Given the description of an element on the screen output the (x, y) to click on. 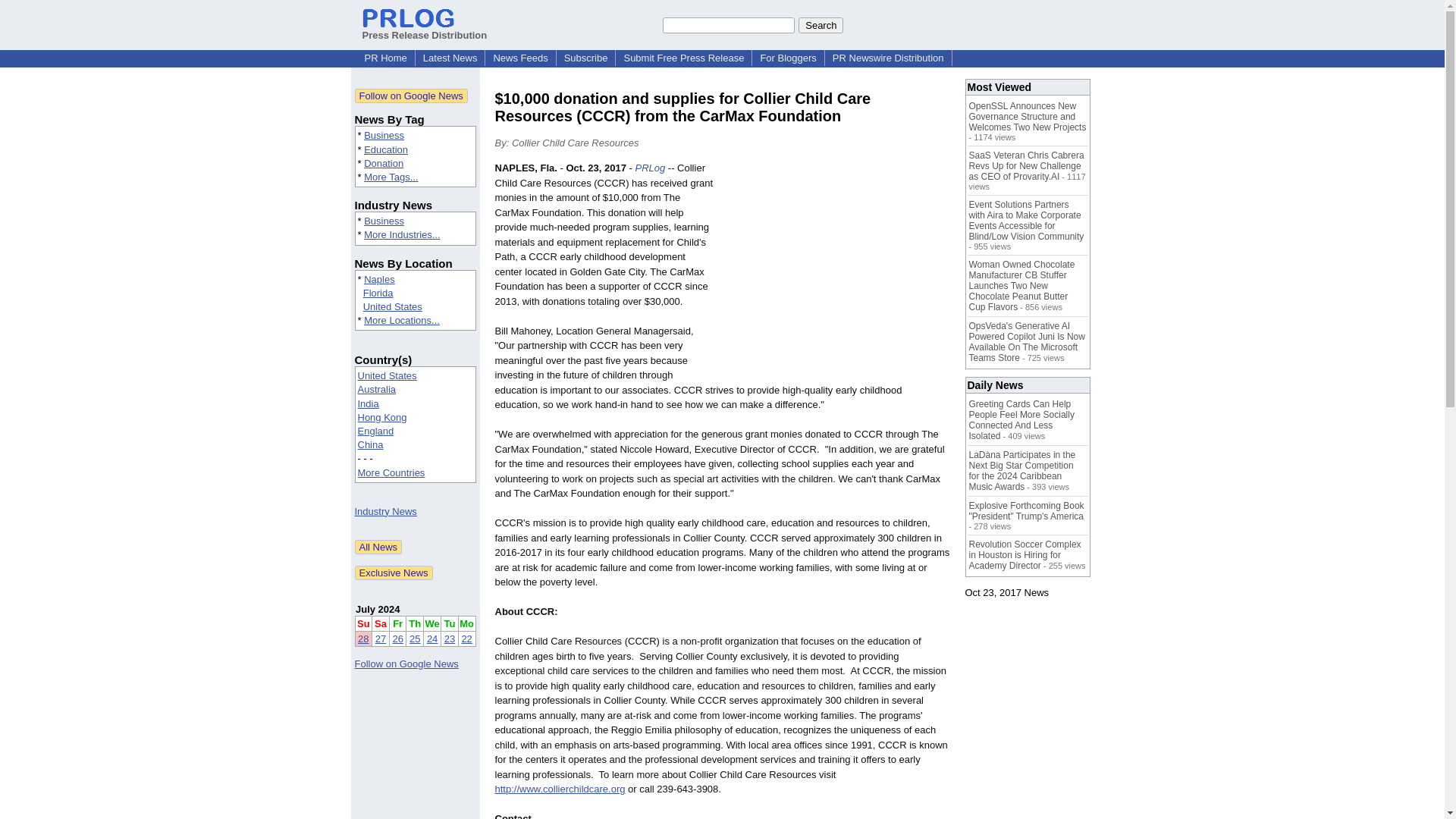
Exclusive News (393, 572)
News Feeds (519, 57)
United States (392, 306)
Press Release Distribution (424, 29)
28 (363, 638)
July 2024 (377, 609)
PR Home (385, 57)
Donation (383, 163)
India (368, 403)
Follow on Google News (411, 95)
Business (384, 134)
All News (379, 546)
More Tags... (390, 176)
All News (379, 546)
Australia (377, 389)
